Given the description of an element on the screen output the (x, y) to click on. 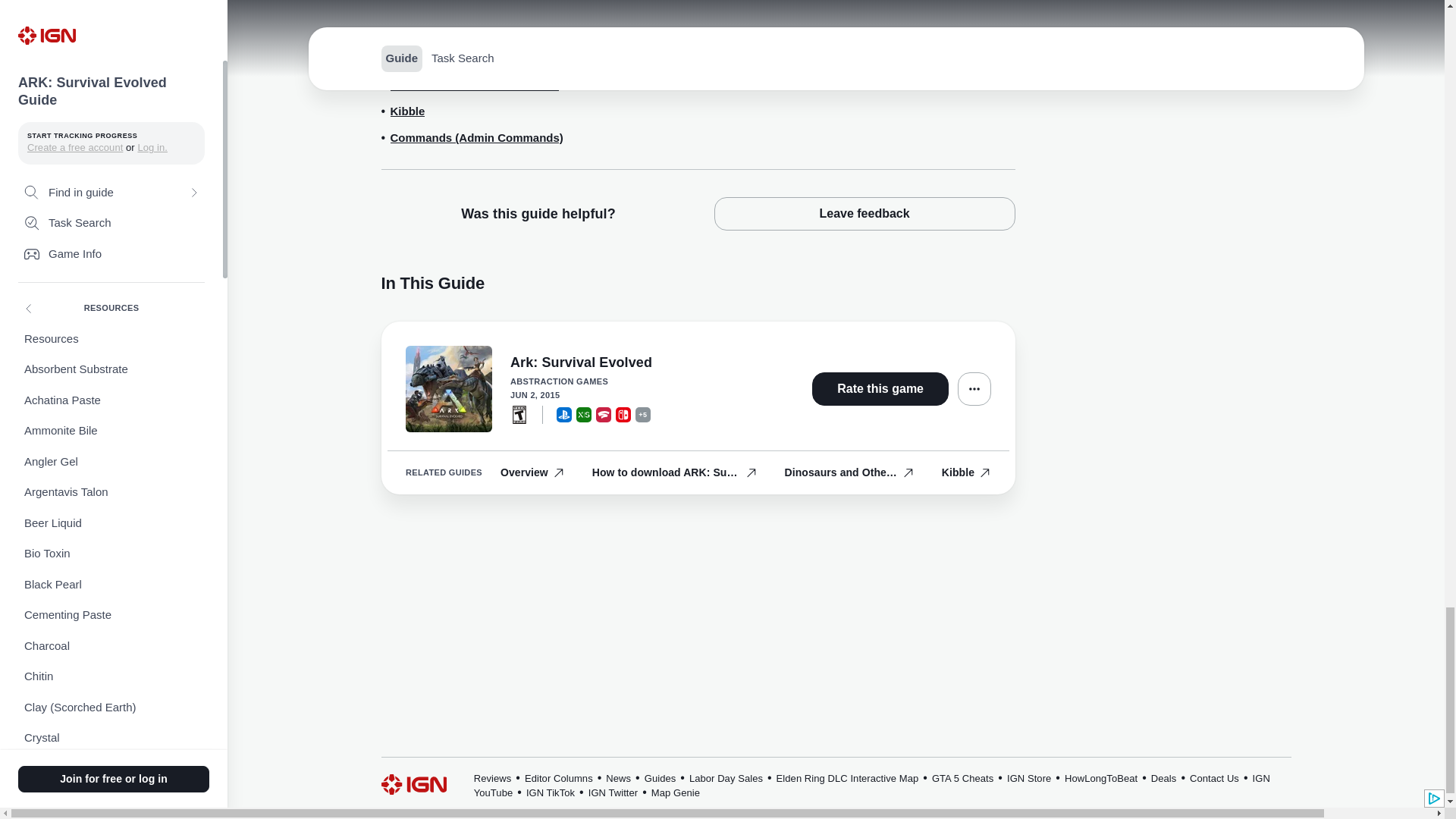
Stadia (603, 413)
Nintendo Switch (622, 413)
ESRB: Teen (518, 413)
PlayStation 5 (564, 413)
